Given the description of an element on the screen output the (x, y) to click on. 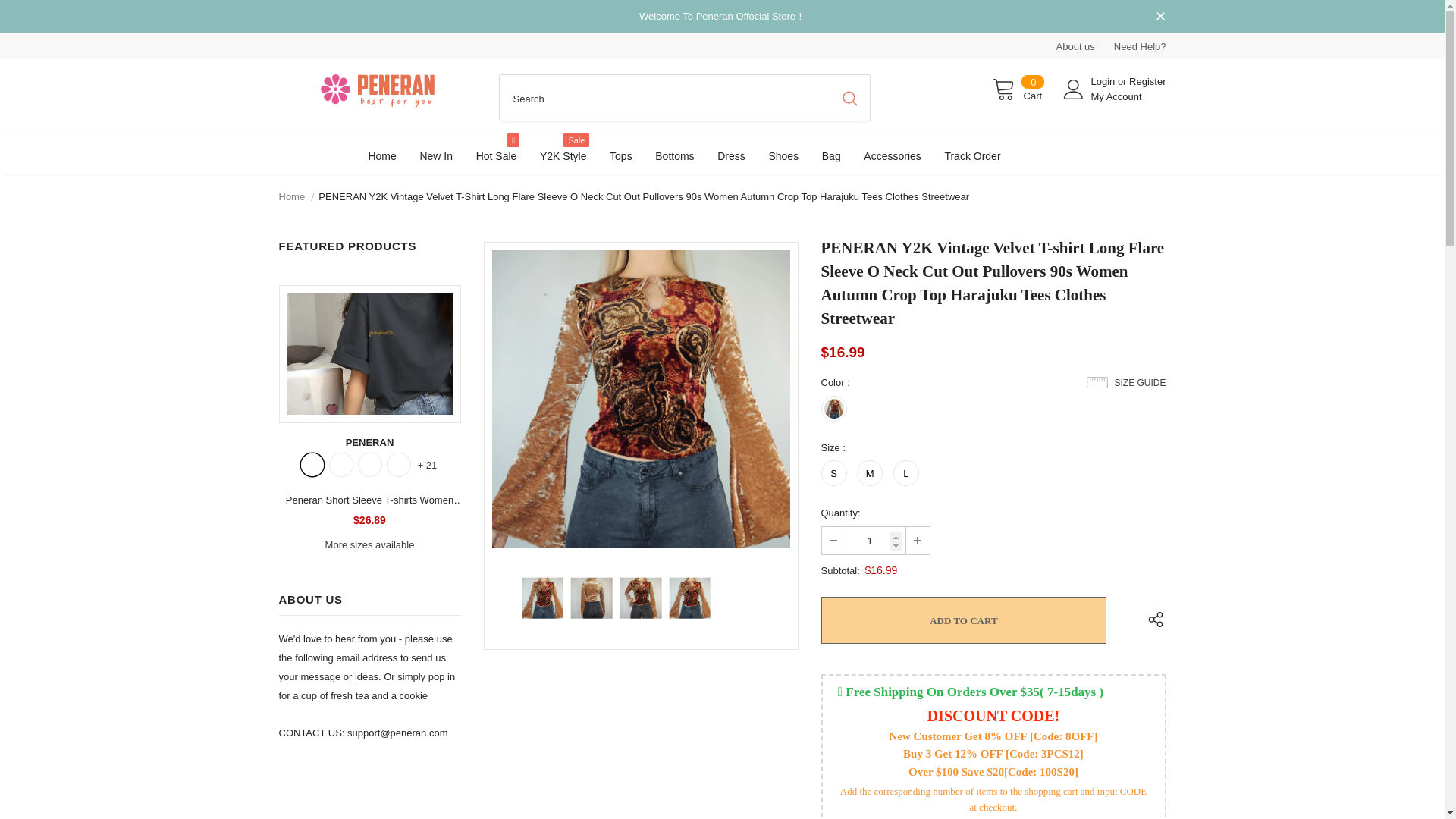
Home (292, 196)
Add to cart (963, 620)
Logo (377, 90)
Cart (1017, 89)
Accessories (891, 155)
close (1160, 17)
My Account (1017, 89)
Track Order (1115, 96)
